Given the description of an element on the screen output the (x, y) to click on. 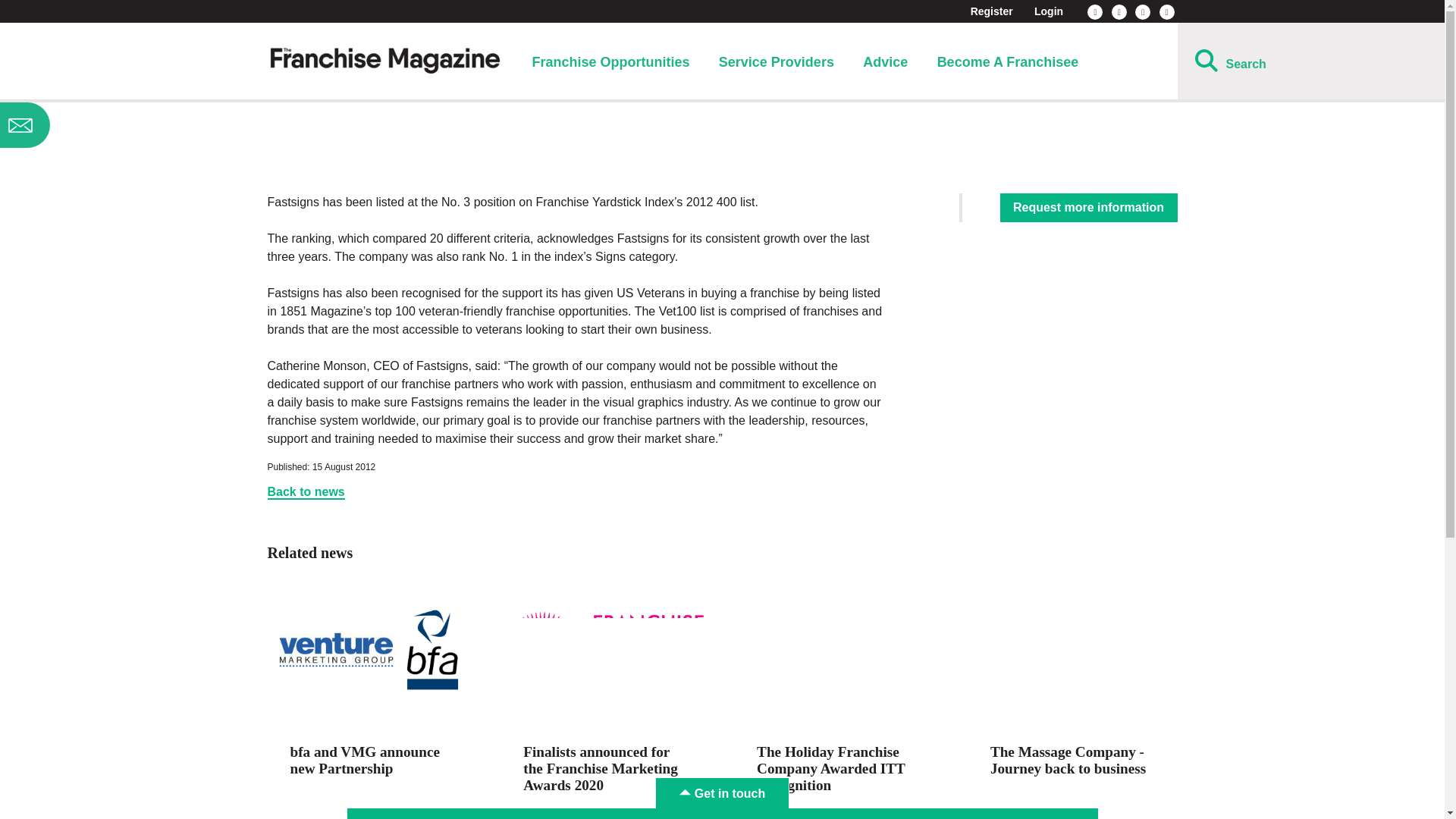
Login (1047, 10)
Franchise Opportunities (609, 61)
Sign up to the newsletter (120, 125)
Register (992, 10)
Advice (885, 61)
Become A Franchisee (1007, 61)
Login (1047, 10)
Service Providers (776, 61)
Service Providers (776, 61)
SignupModal (120, 125)
